Given the description of an element on the screen output the (x, y) to click on. 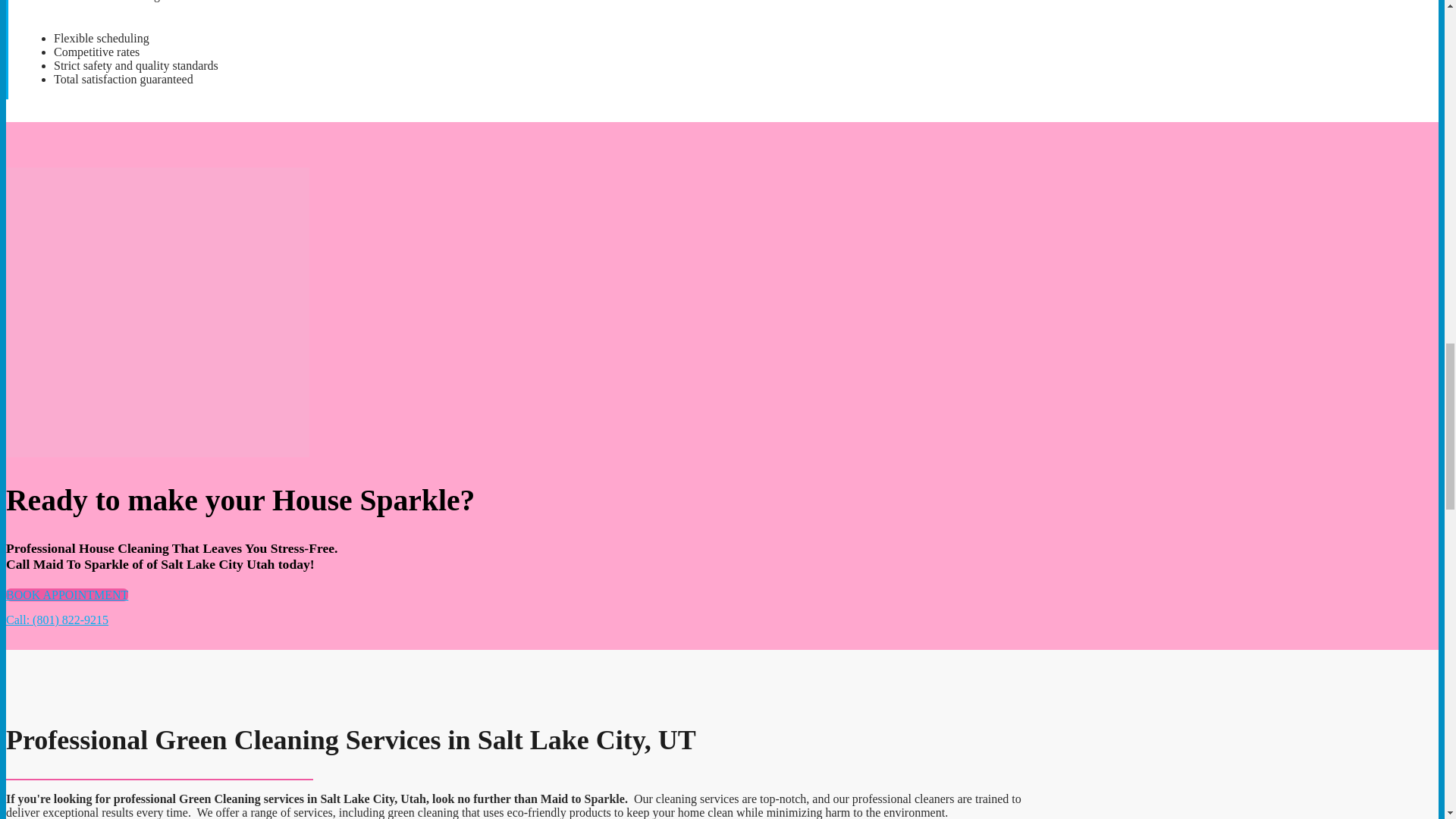
BOOK APPOINTMENT (66, 594)
